Given the description of an element on the screen output the (x, y) to click on. 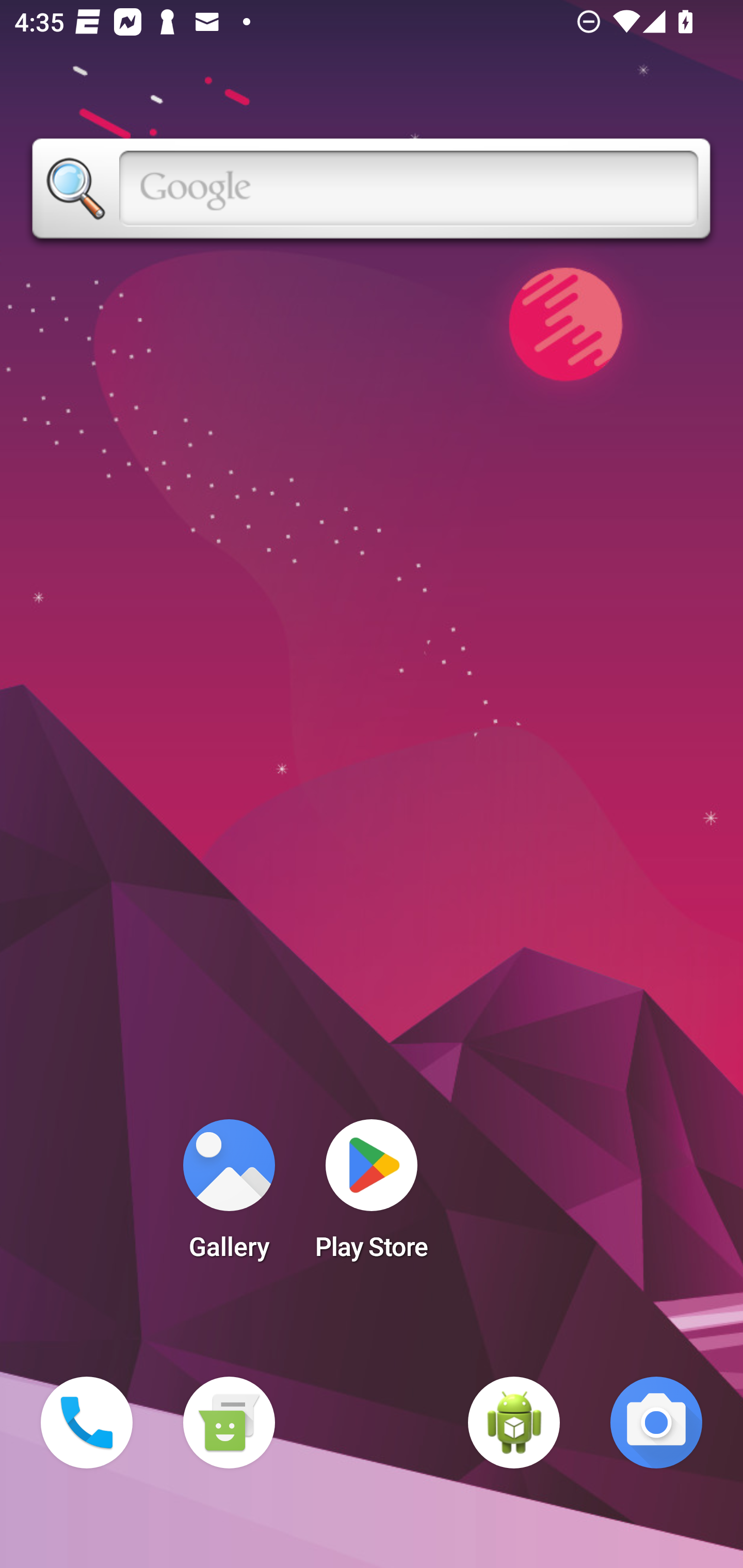
Gallery (228, 1195)
Play Store (371, 1195)
Phone (86, 1422)
Messaging (228, 1422)
WebView Browser Tester (513, 1422)
Camera (656, 1422)
